Given the description of an element on the screen output the (x, y) to click on. 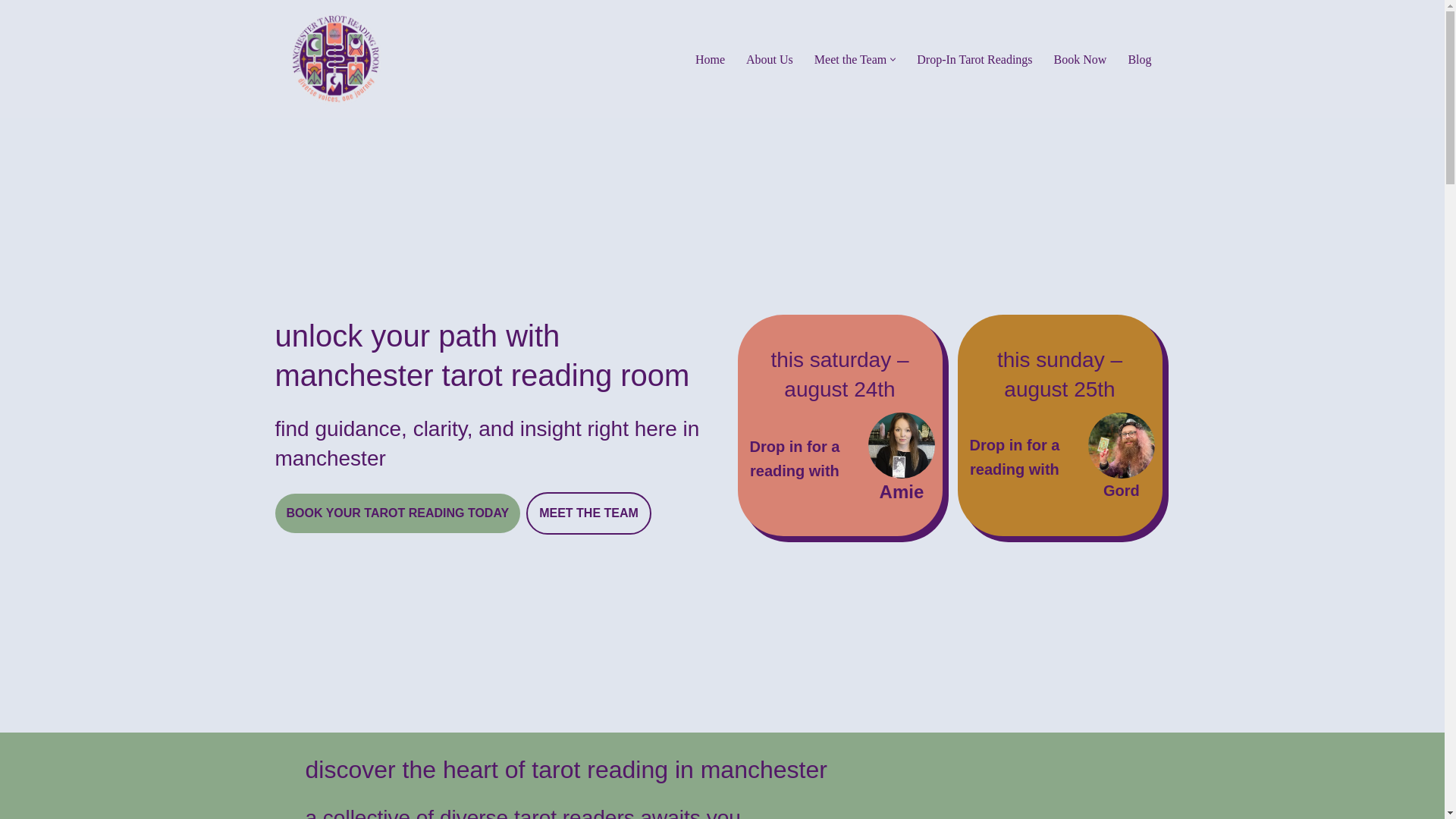
Book Now (1080, 59)
Amie (901, 491)
Blog (1138, 59)
Home (710, 59)
Meet the Team (849, 59)
Skip to content (11, 31)
About Us (769, 59)
MEET THE TEAM (587, 513)
BOOK YOUR TAROT READING TODAY (397, 513)
Drop-In Tarot Readings (974, 59)
